Given the description of an element on the screen output the (x, y) to click on. 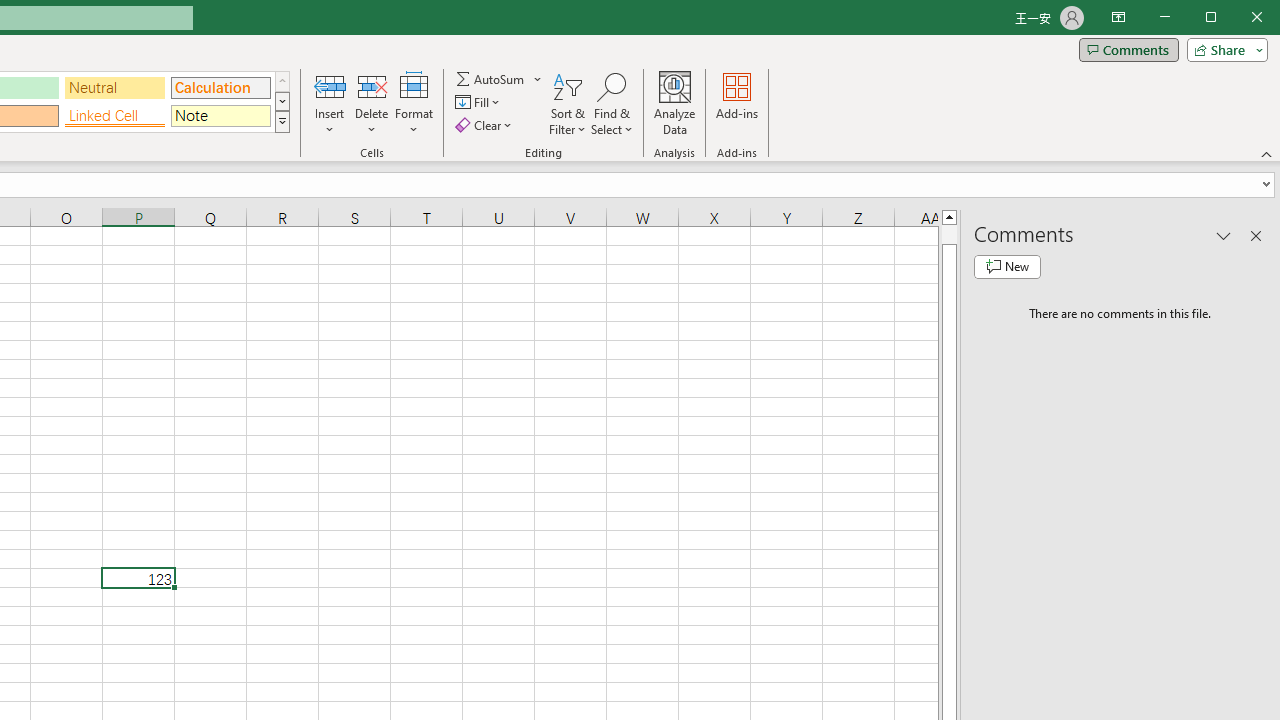
Fill (478, 101)
Maximize (1239, 18)
Insert Cells (329, 86)
